Given the description of an element on the screen output the (x, y) to click on. 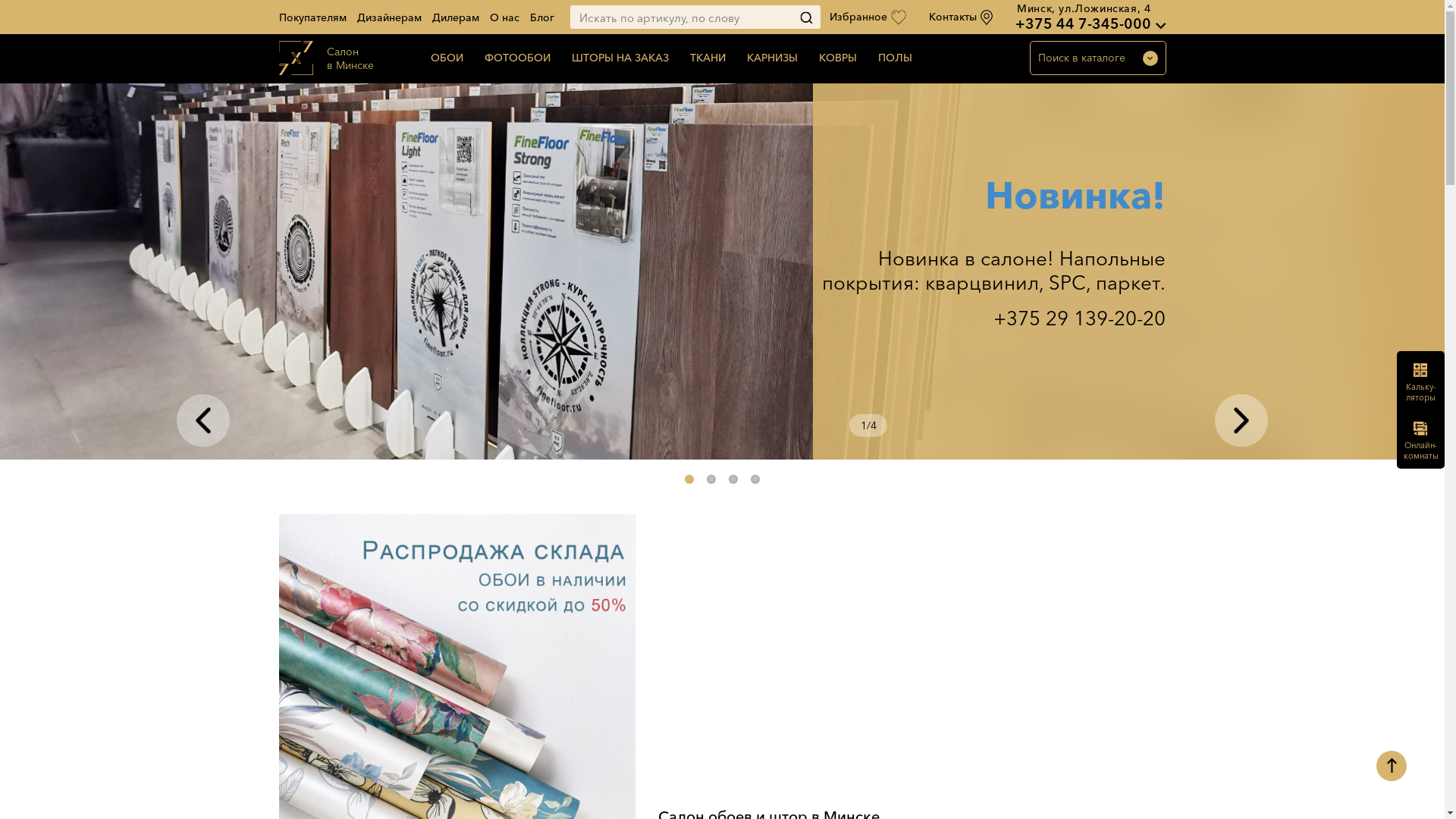
YouTube video player Element type: hover (912, 654)
+375 44 7-345-000 Element type: text (1082, 23)
